Given the description of an element on the screen output the (x, y) to click on. 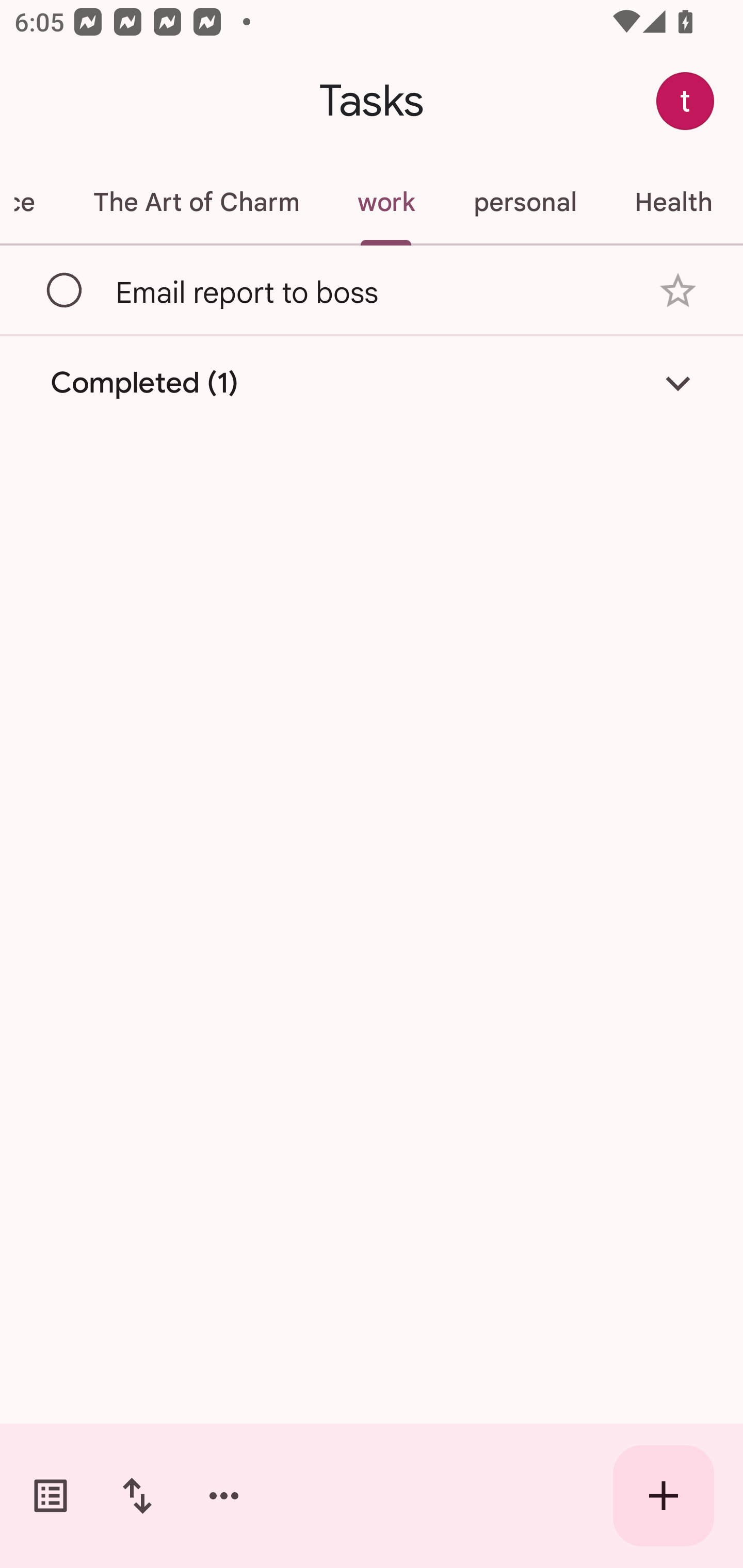
The Art of Charm (195, 202)
personal (524, 202)
Health (673, 202)
Add star (677, 290)
Mark as complete (64, 290)
Completed (1) (371, 382)
Switch task lists (50, 1495)
Create new task (663, 1495)
Change sort order (136, 1495)
More options (223, 1495)
